Given the description of an element on the screen output the (x, y) to click on. 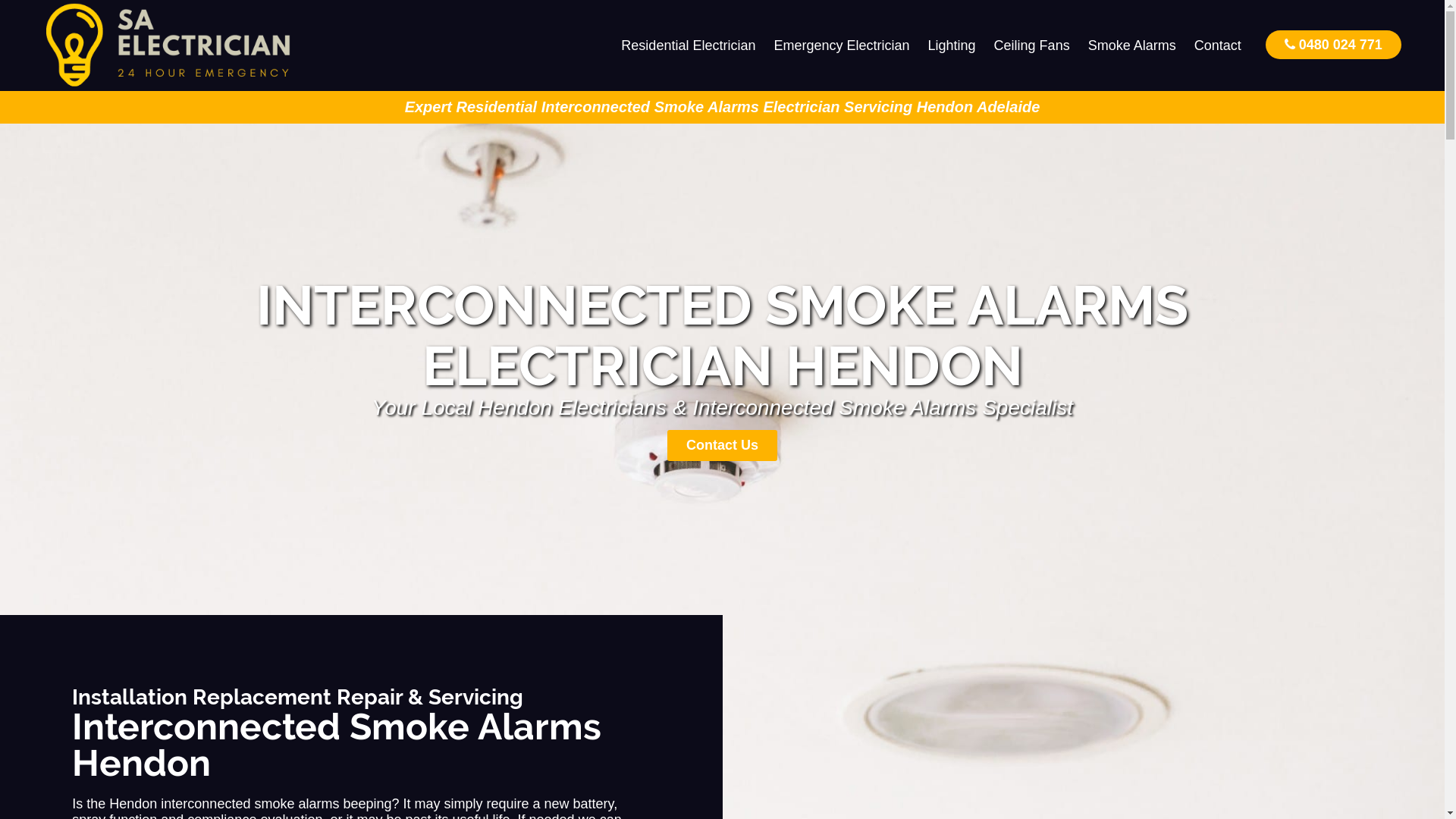
Emergency Electrician Element type: text (841, 45)
Contact Element type: text (1217, 45)
0480 024 771 Element type: text (1333, 44)
Residential Electrician Element type: text (687, 45)
Ceiling Fans Element type: text (1032, 45)
Contact Us Element type: text (722, 445)
Lighting Element type: text (952, 45)
Smoke Alarms Element type: text (1132, 45)
